Given the description of an element on the screen output the (x, y) to click on. 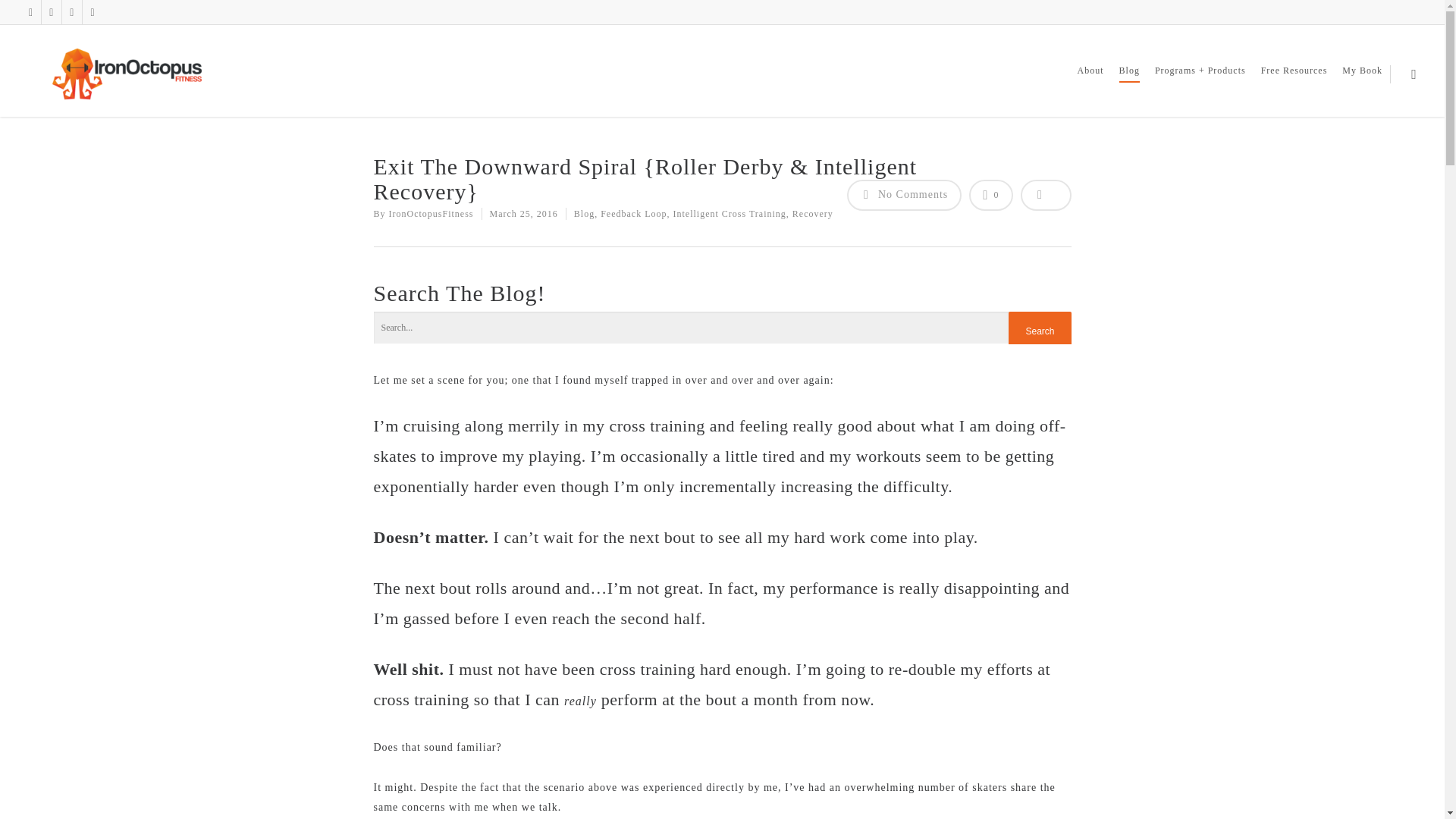
IronOctopusFitness (431, 213)
Search for: (721, 327)
Blog (583, 213)
Free Resources (1293, 81)
Love this (990, 194)
Recovery (812, 213)
No Comments (902, 194)
Feedback Loop (632, 213)
Search (1039, 331)
Intelligent Cross Training (729, 213)
